Given the description of an element on the screen output the (x, y) to click on. 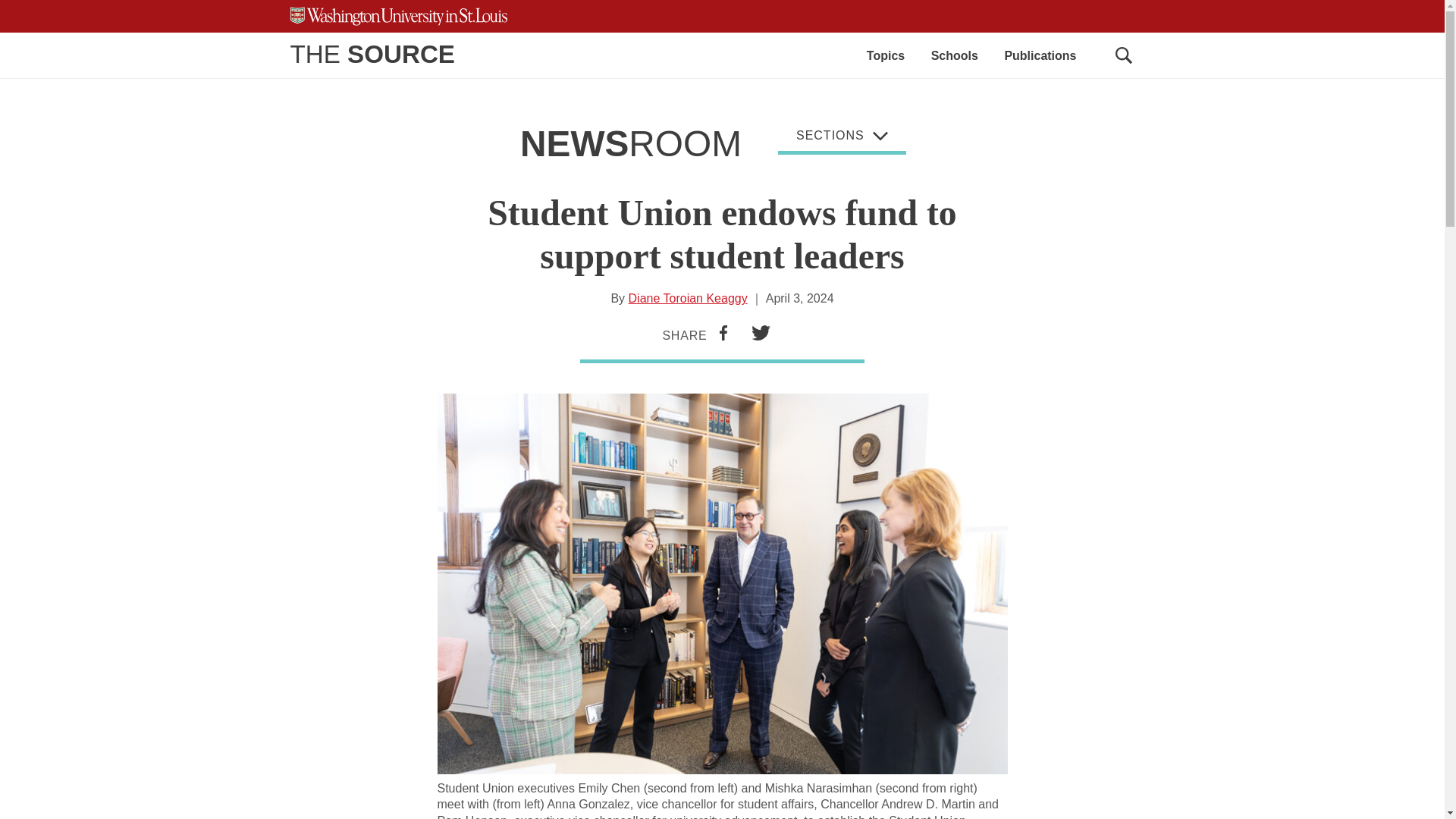
Schools (954, 54)
THE SOURCE (371, 53)
Publications (1039, 54)
Click to share on Facebook (723, 334)
SECTIONS (841, 137)
Click to share on Twitter (761, 334)
NEWSROOM (630, 143)
Diane Toroian Keaggy (688, 297)
